Given the description of an element on the screen output the (x, y) to click on. 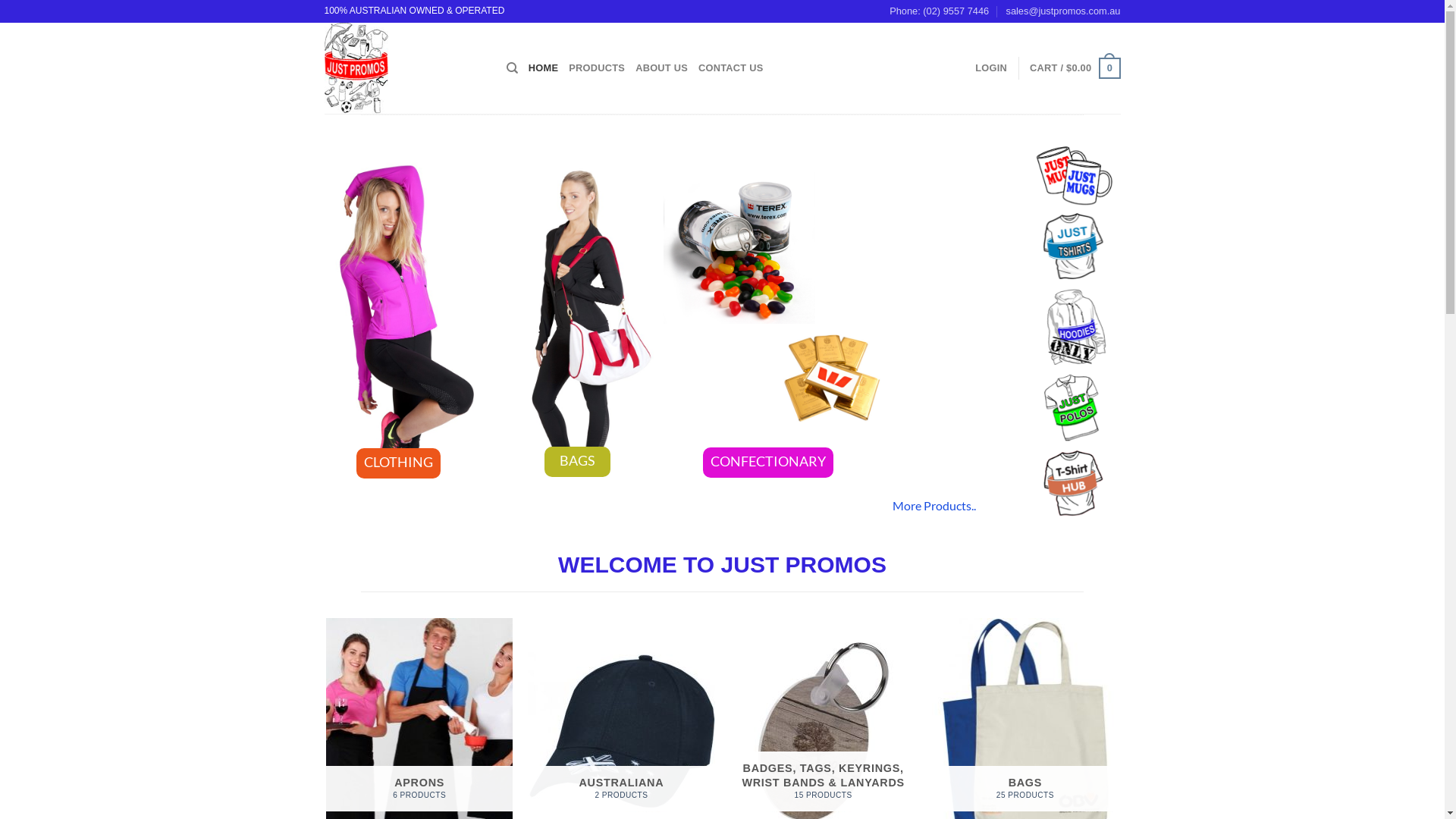
sales@justpromos.com.au Element type: text (1063, 11)
ABOUT US Element type: text (661, 68)
Phone: (02) 9557 7446 Element type: text (938, 11)
Just Promo Element type: hover (403, 67)
CONTACT US Element type: text (730, 68)
LOGIN Element type: text (991, 68)
PRODUCTS Element type: text (596, 68)
HOME Element type: text (543, 68)
CART / $0.00
0 Element type: text (1074, 68)
